Given the description of an element on the screen output the (x, y) to click on. 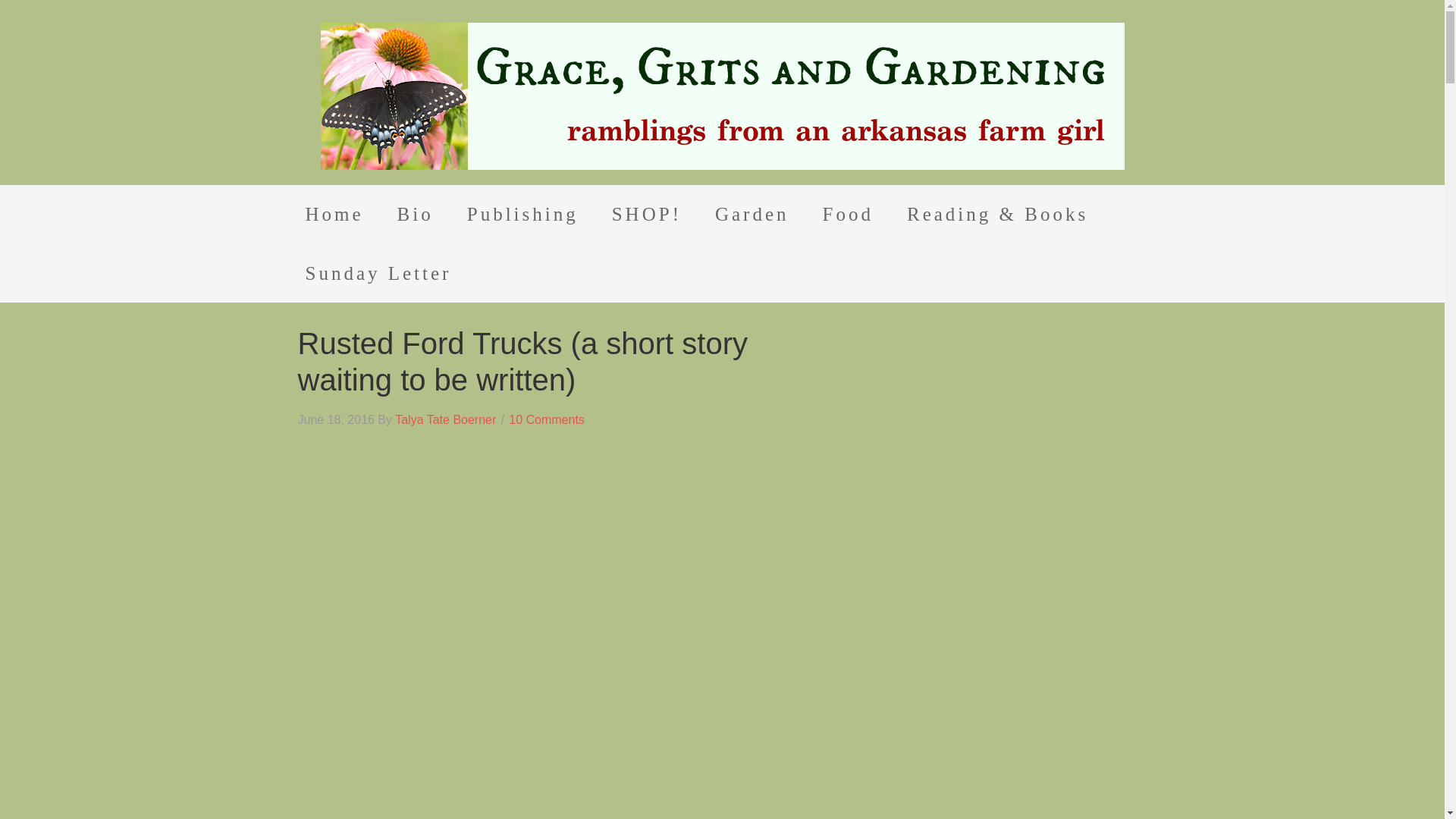
Publishing (522, 214)
grace grits and gardening (721, 95)
Home (333, 214)
Talya Tate Boerner (445, 419)
Sunday Letter (377, 273)
10 Comments (546, 419)
Bio (414, 214)
Food (848, 214)
SHOP! (646, 214)
Garden (752, 214)
